Given the description of an element on the screen output the (x, y) to click on. 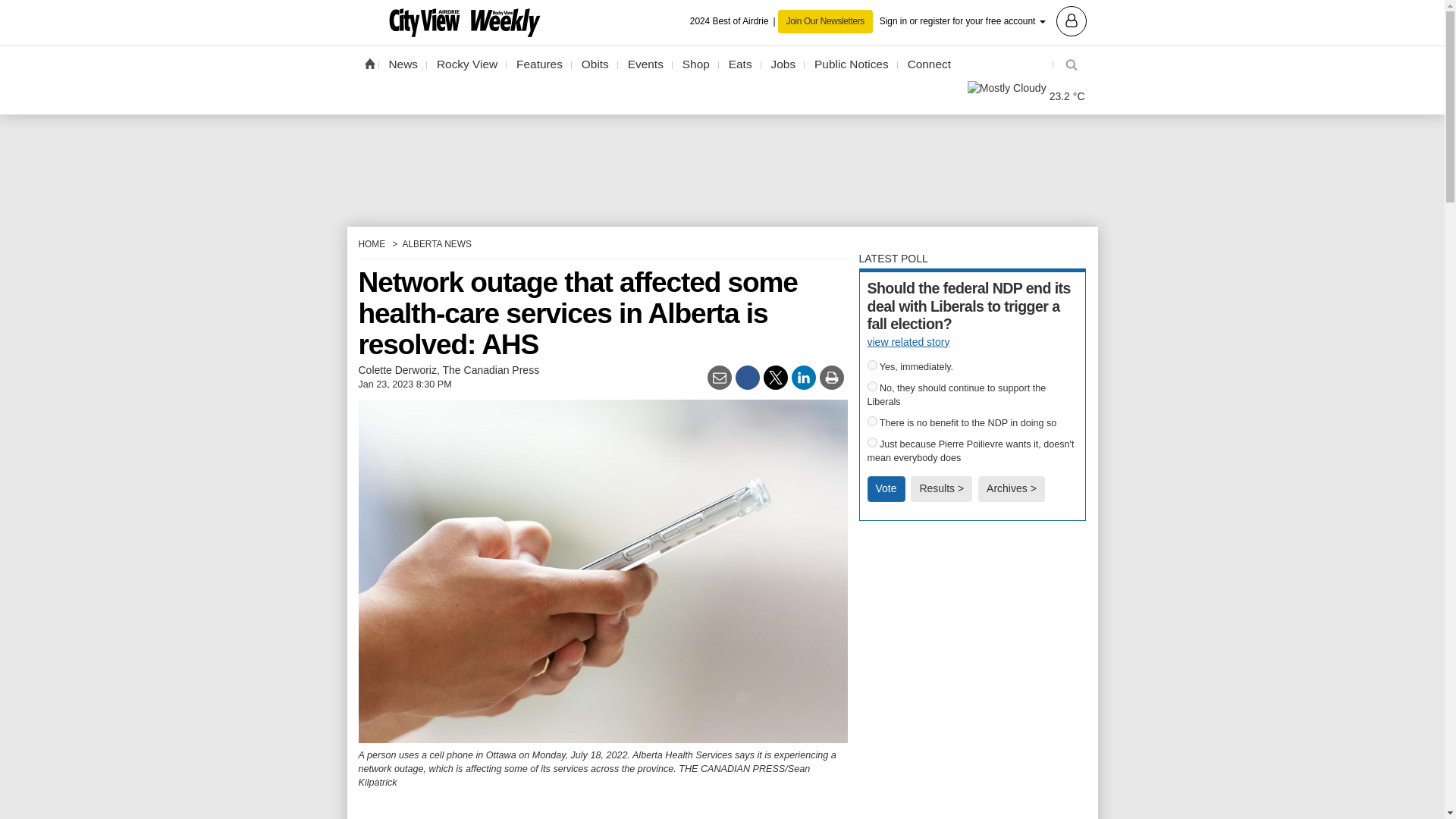
123766 (872, 386)
123767 (872, 420)
Join Our Newsletters (824, 21)
Sign in or register for your free account (982, 20)
Home (368, 63)
123768 (872, 442)
123765 (872, 365)
2024 Best of Airdrie (733, 21)
